Given the description of an element on the screen output the (x, y) to click on. 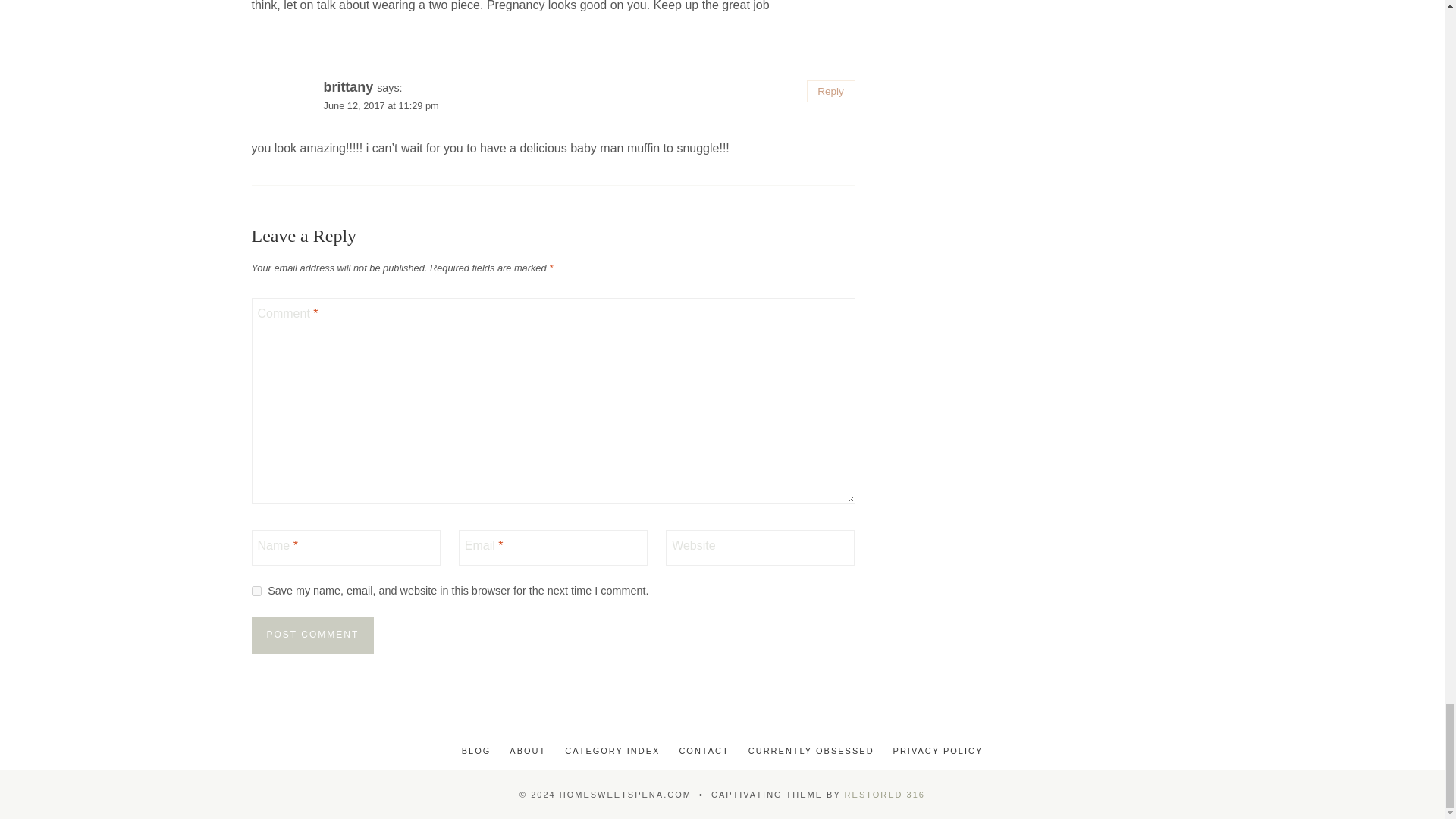
yes (256, 591)
Post Comment (312, 634)
